Given the description of an element on the screen output the (x, y) to click on. 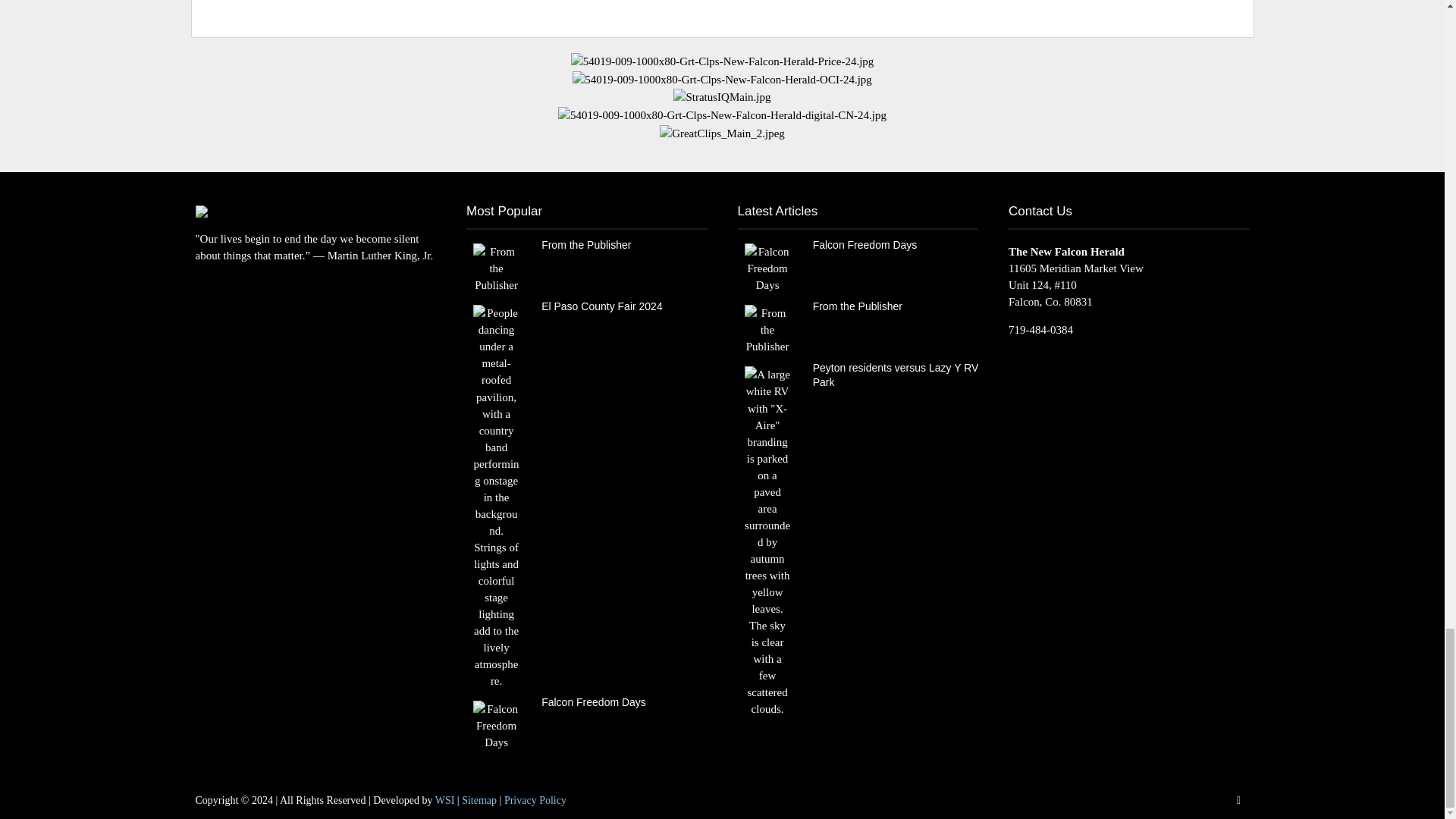
El Paso County Fair 2024 (496, 495)
From the Publisher (496, 267)
Falcon Freedom Days (496, 725)
Falcon Freedom Days (767, 267)
From the Publisher (767, 328)
Peyton residents versus Lazy Y RV Park (767, 540)
